Given the description of an element on the screen output the (x, y) to click on. 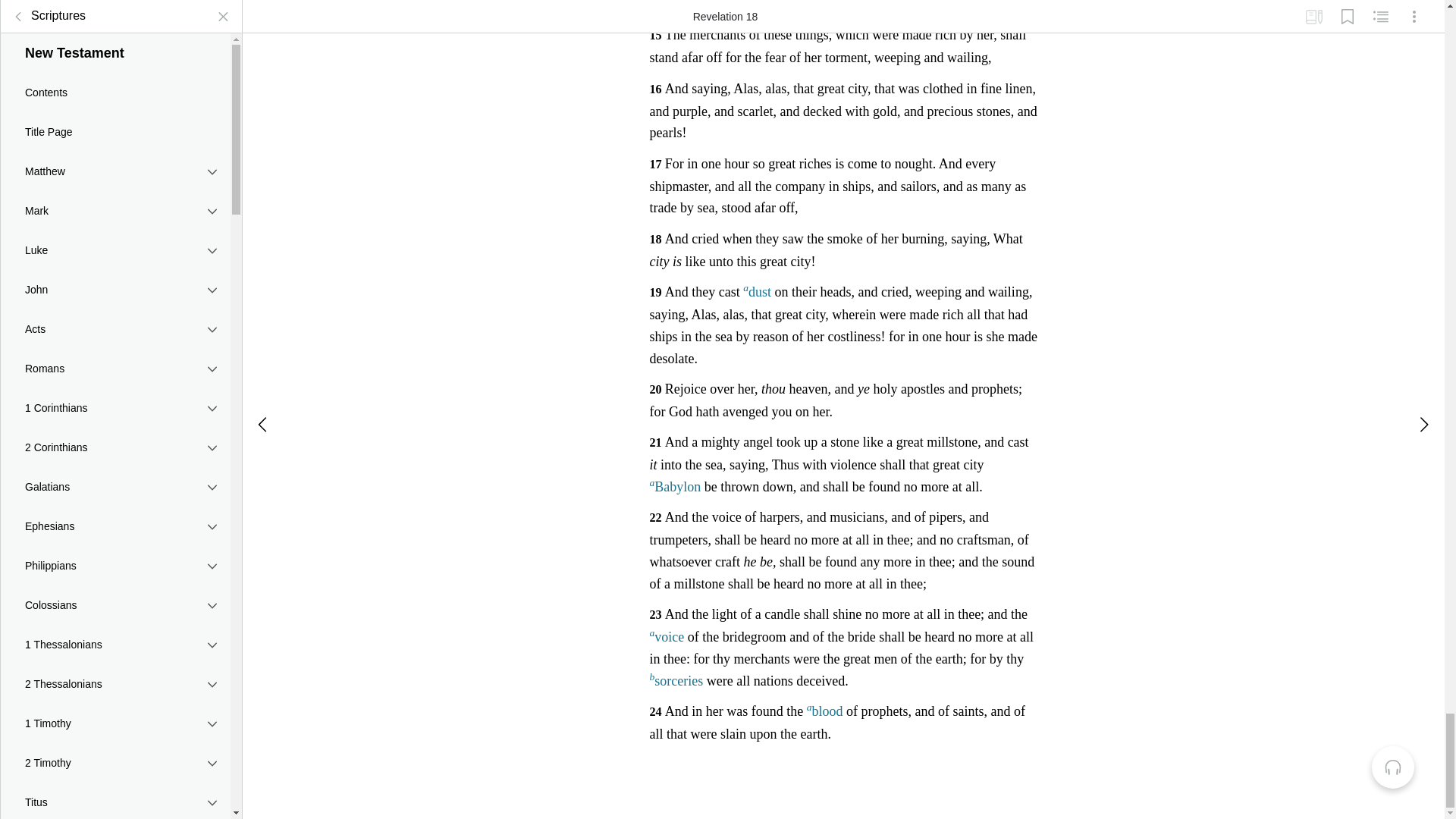
Revelation 4 (115, 138)
Revelation 5 (115, 165)
Revelation 8 (115, 247)
Revelation 6 (115, 193)
Revelation 3 (115, 111)
Contents (115, 29)
Revelation 1 (115, 56)
Revelation 2 (115, 83)
Revelation 7 (115, 220)
